Given the description of an element on the screen output the (x, y) to click on. 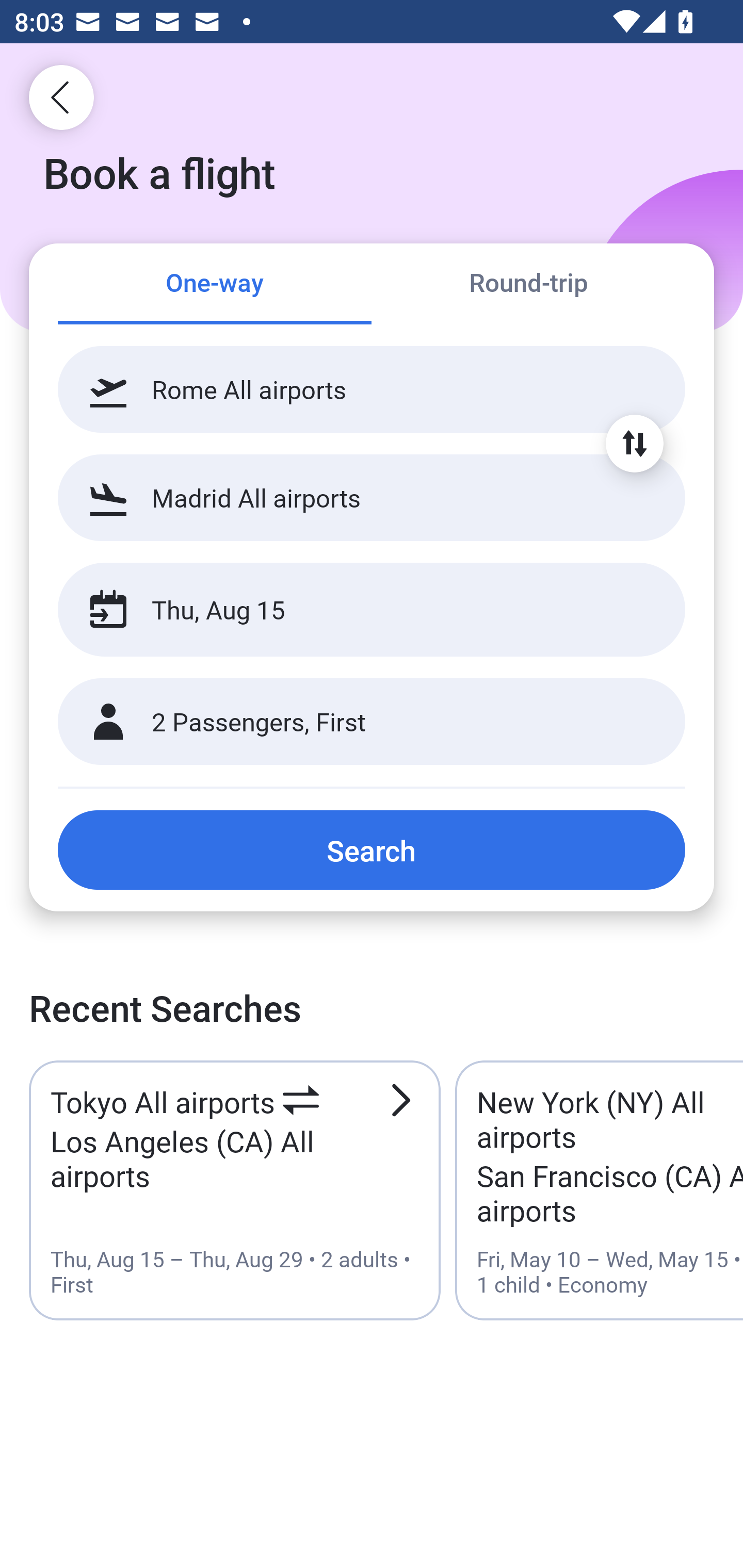
Round-trip (528, 284)
Rome All airports (371, 389)
Madrid All airports (371, 497)
Thu, Aug 15 (349, 609)
2 Passengers, First (371, 721)
Search (371, 849)
